Given the description of an element on the screen output the (x, y) to click on. 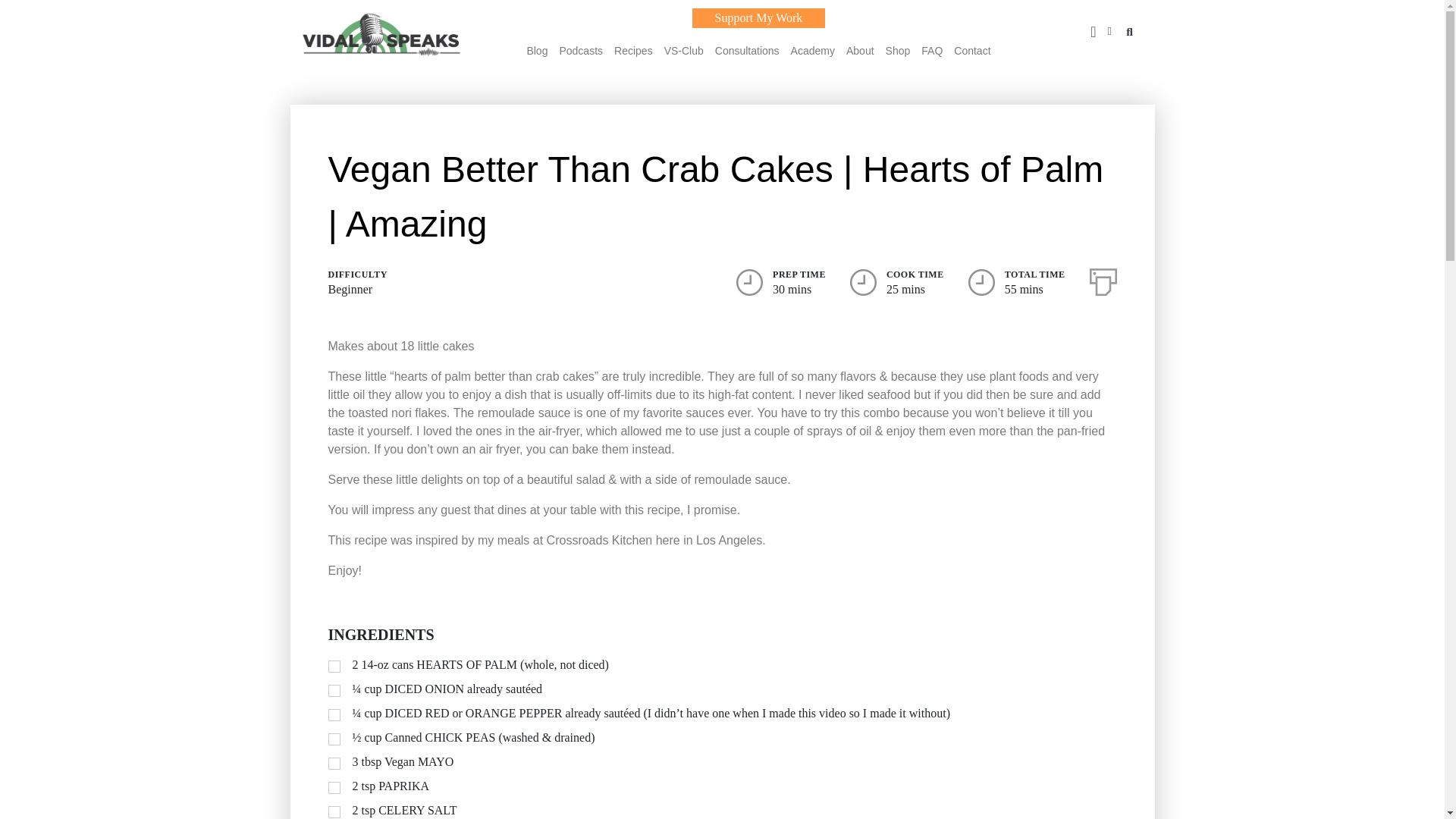
Recipes (633, 50)
Academy (812, 50)
About (860, 50)
Shop (898, 50)
Contact (971, 50)
Podcasts (580, 50)
VS-Club (683, 50)
Consultations (746, 50)
Blog (536, 50)
Support My Work (759, 17)
